Given the description of an element on the screen output the (x, y) to click on. 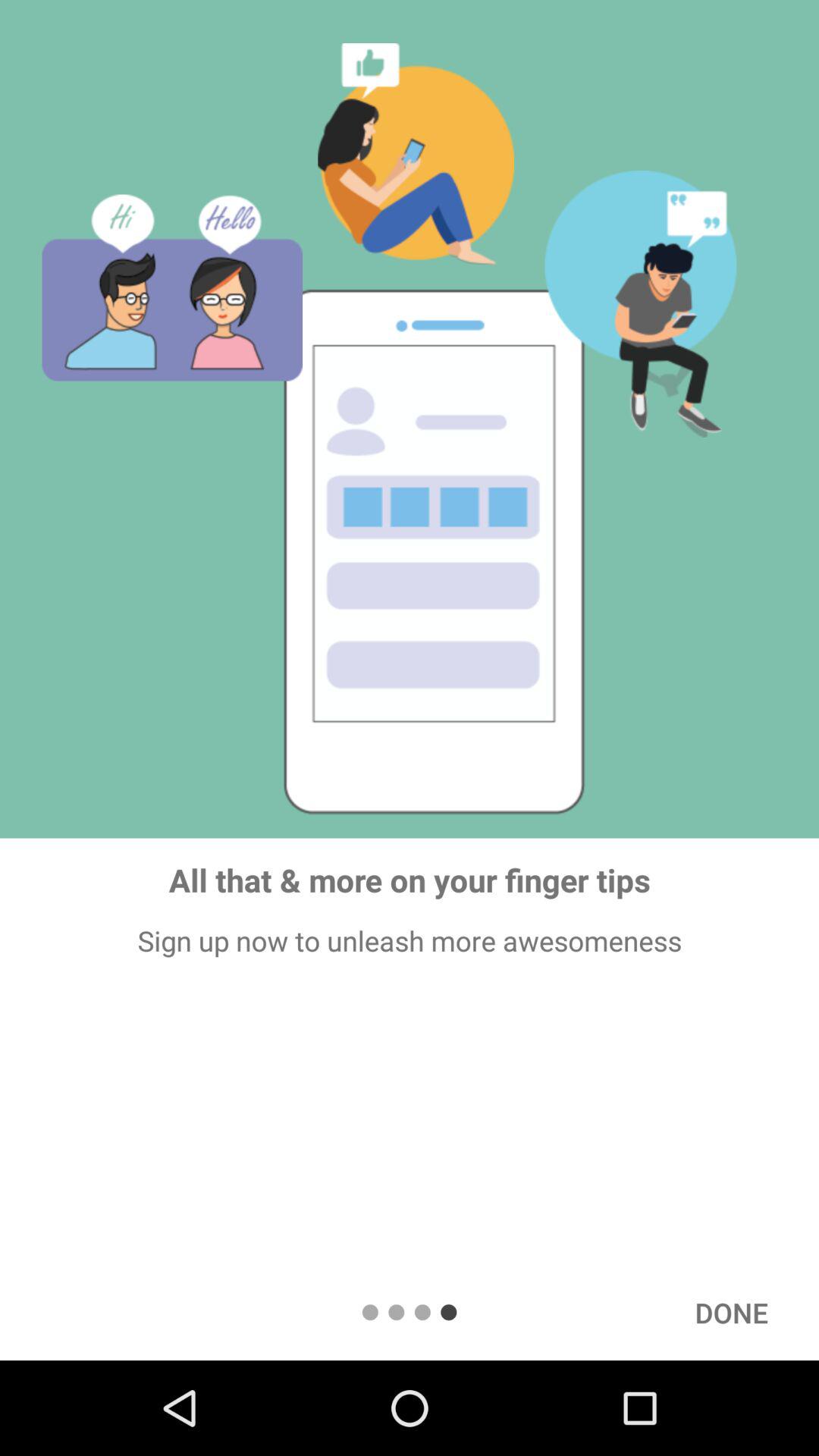
click icon at the bottom right corner (731, 1312)
